Given the description of an element on the screen output the (x, y) to click on. 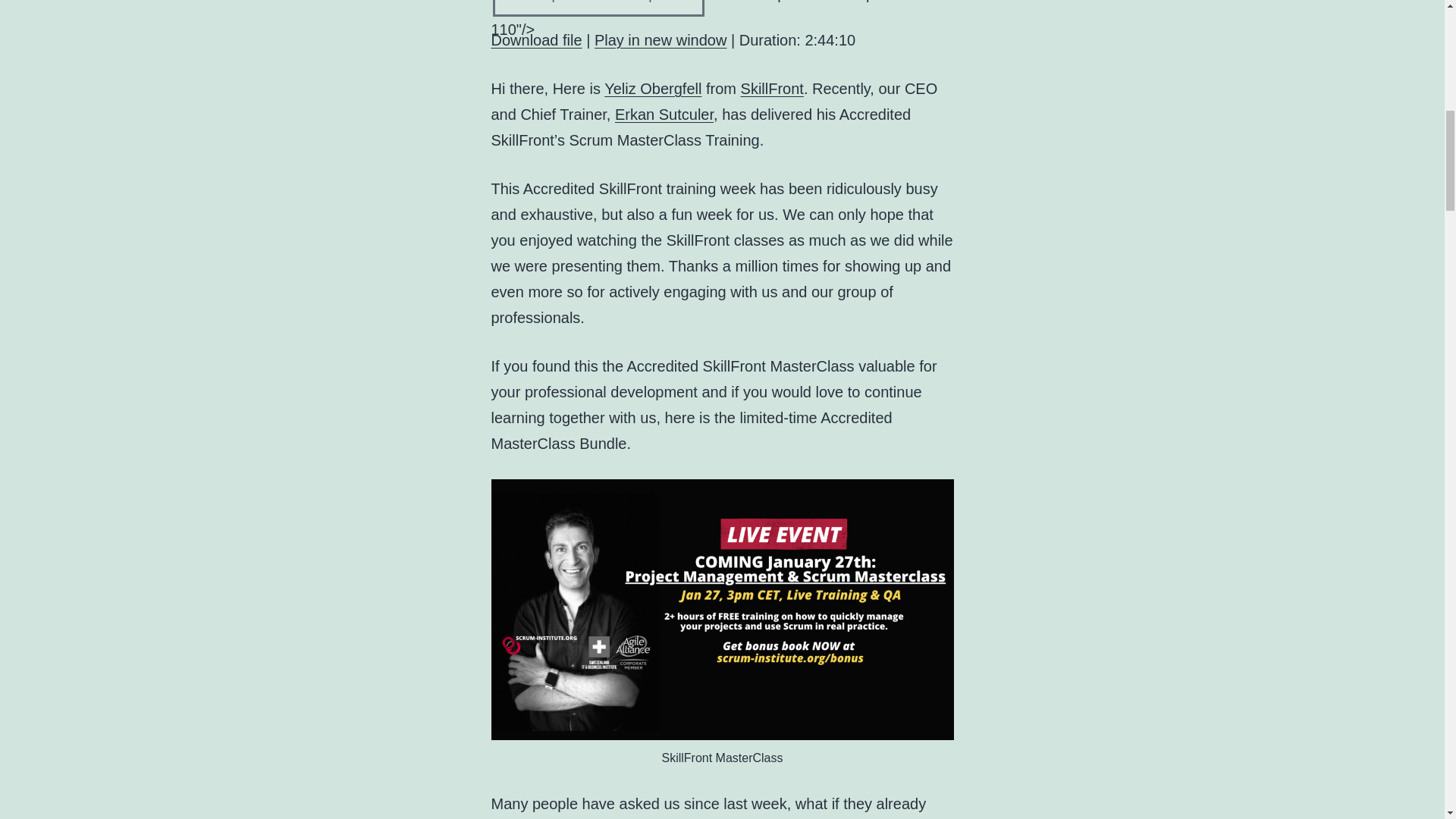
Download file (537, 39)
Yeliz Obergfell (652, 88)
Play in new window (660, 39)
Erkan Sutculer (663, 114)
SkillFront (772, 88)
